Given the description of an element on the screen output the (x, y) to click on. 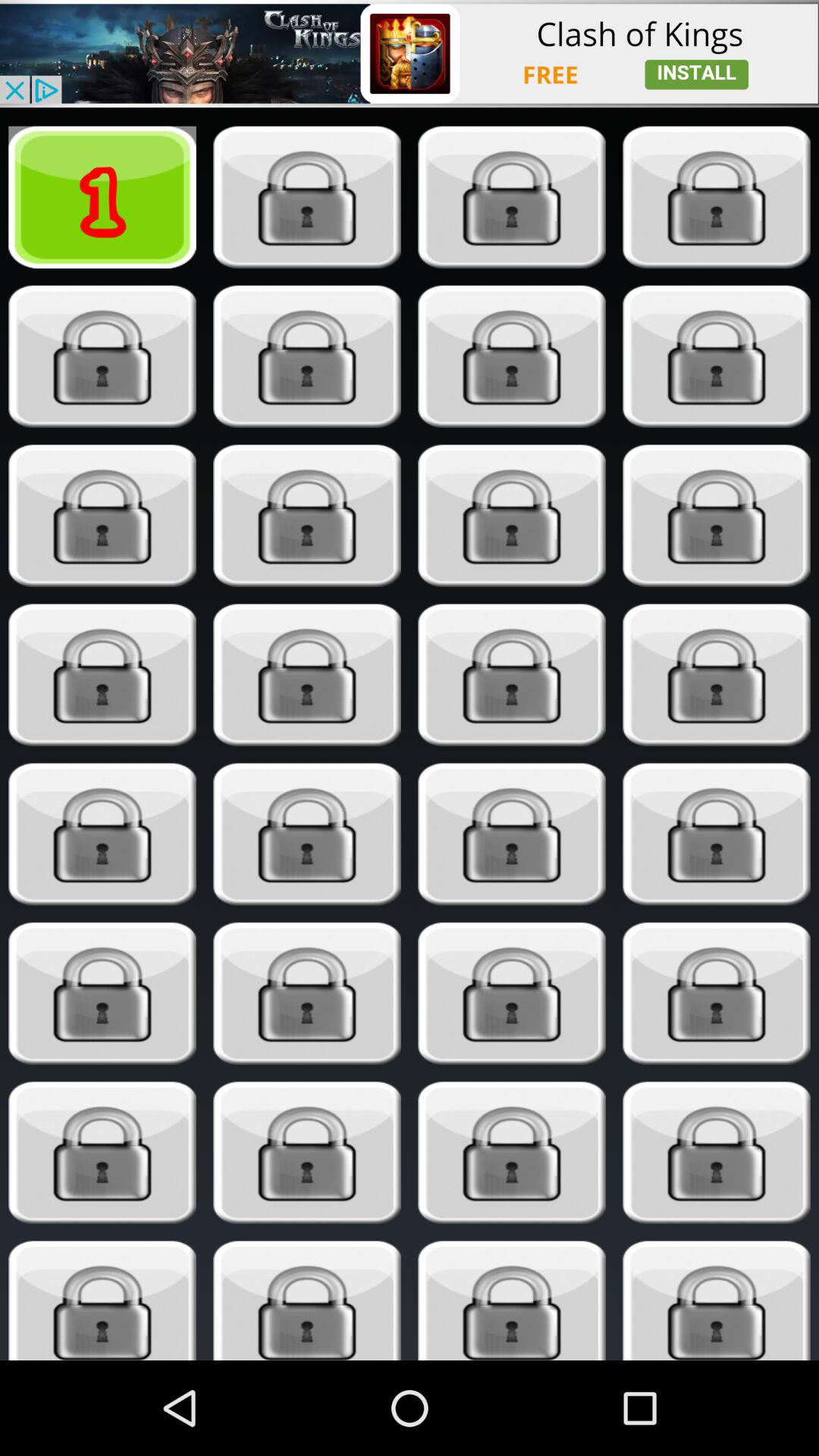
click to unlock (102, 1300)
